Given the description of an element on the screen output the (x, y) to click on. 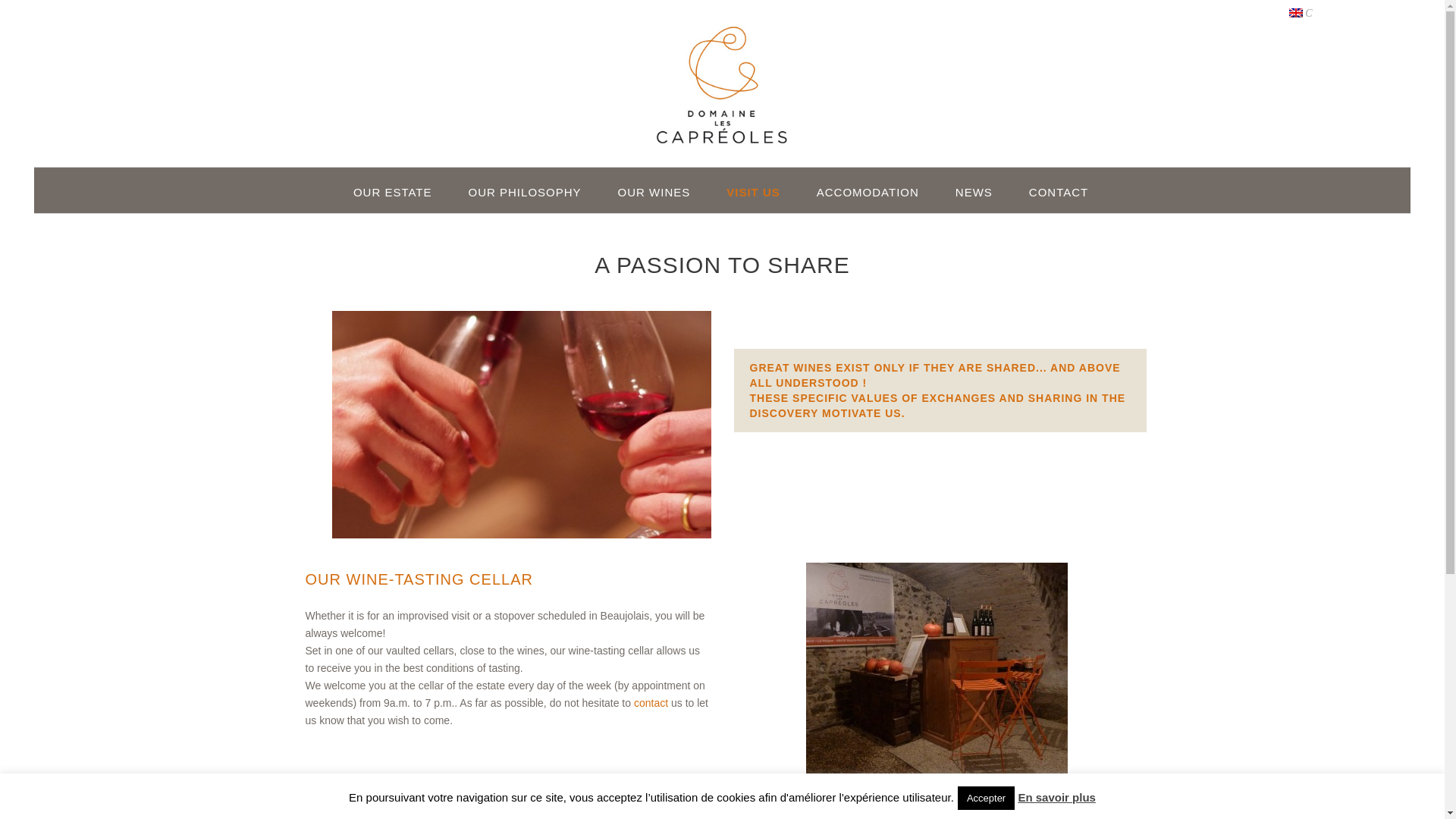
OUR WINES (654, 192)
NEWS (973, 192)
Accepter (986, 797)
En savoir plus (1056, 797)
verre (521, 424)
CONTACT (1058, 192)
OUR PHILOSOPHY (524, 192)
contact (650, 702)
ACCOMODATION (867, 192)
OUR ESTATE (391, 192)
VISIT US (752, 192)
